Given the description of an element on the screen output the (x, y) to click on. 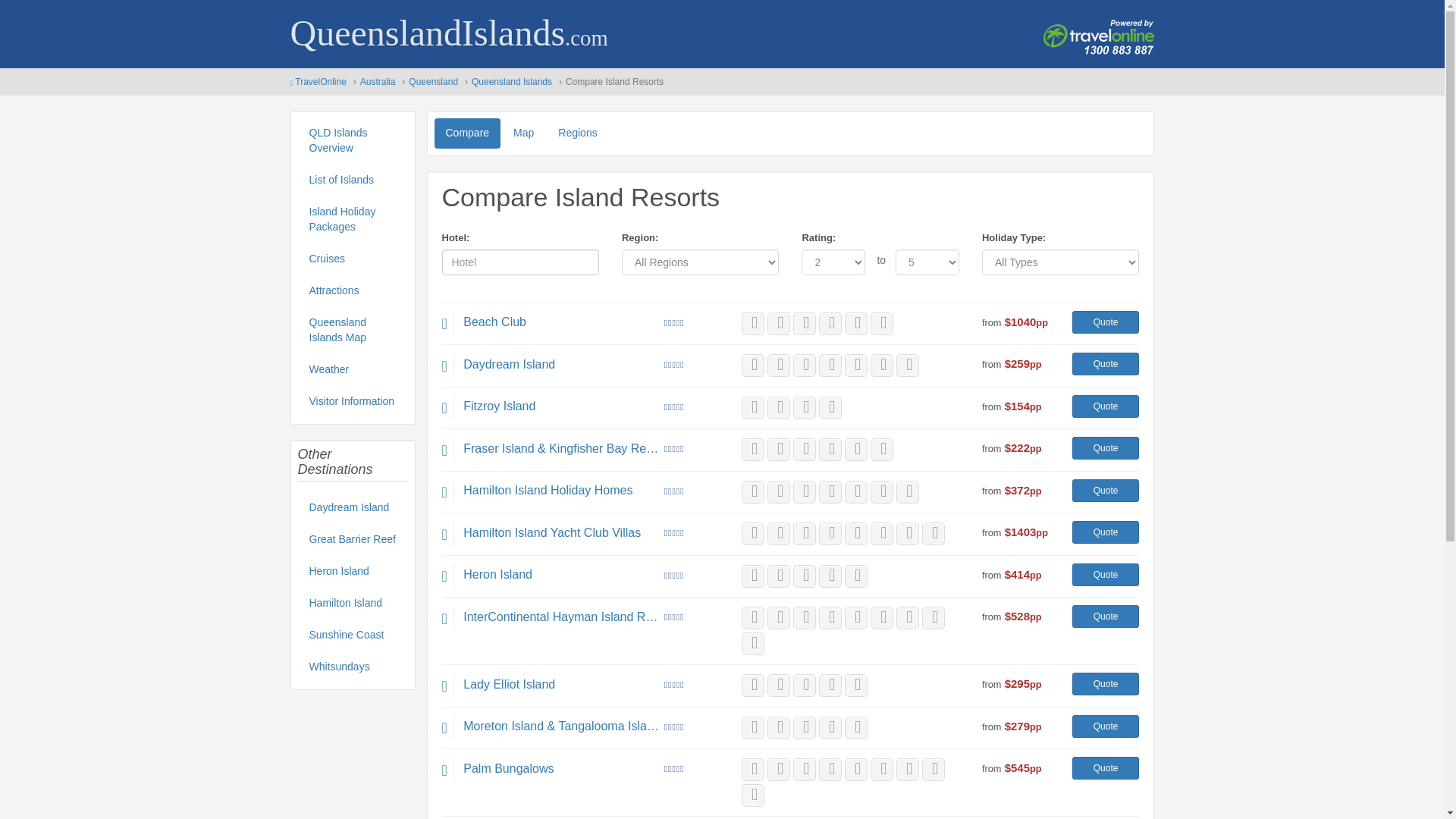
QLD Islands Overview (352, 140)
Fitzroy Island (562, 406)
Quote (1105, 363)
Regions (577, 132)
Beach Club (562, 322)
Quote (1105, 322)
TravelOnline (320, 81)
Quote (1105, 405)
Australia (377, 81)
Queensland Islands (511, 81)
Hamilton Island (352, 603)
Great Barrier Reef (352, 539)
Rating: 5 Stars (673, 322)
Quote (1105, 447)
Compare (466, 132)
